Given the description of an element on the screen output the (x, y) to click on. 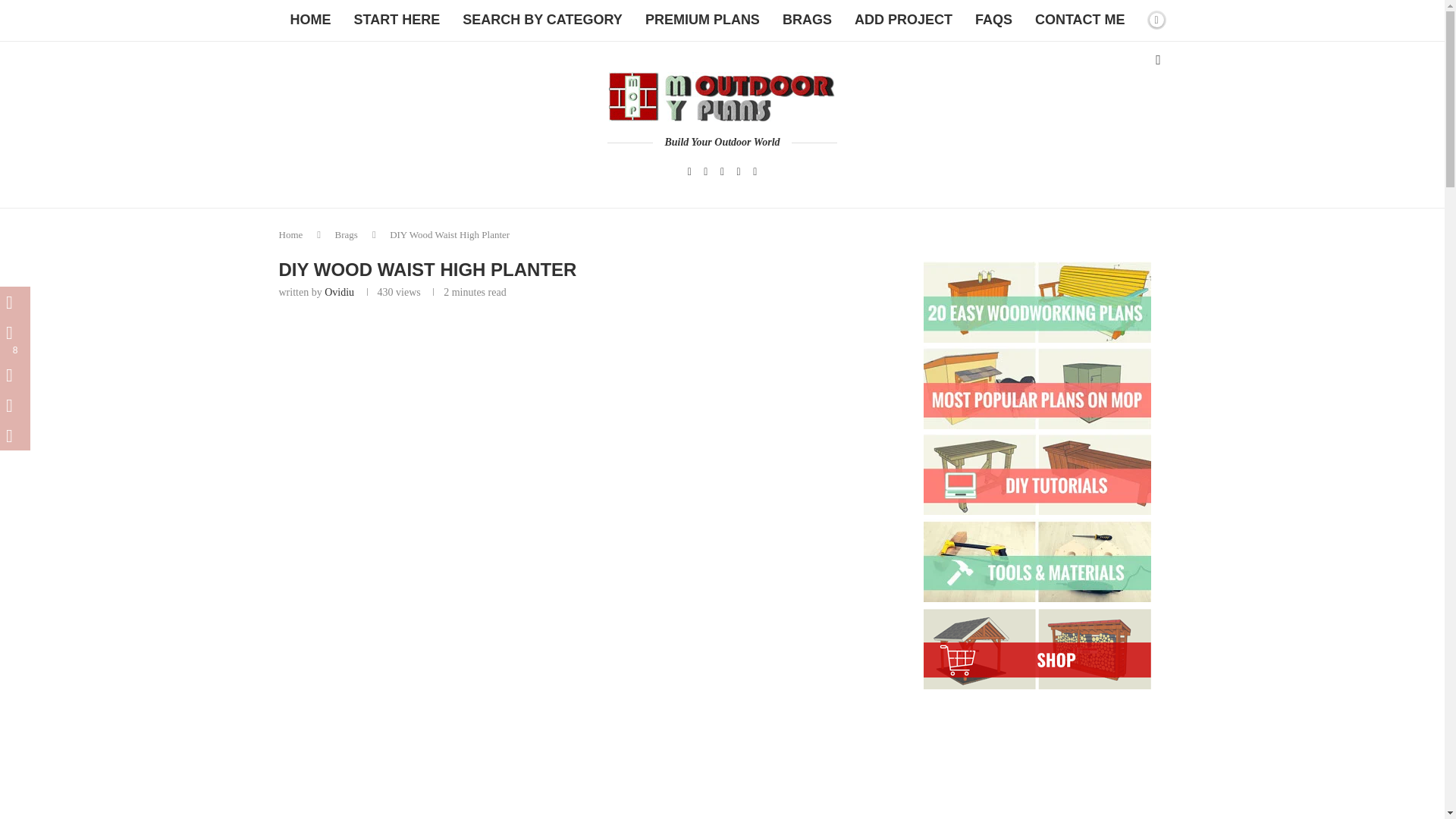
Ovidiu (338, 292)
HOME (310, 20)
FAQS (993, 20)
CONTACT ME (1080, 20)
Brags (346, 234)
ADD PROJECT (903, 20)
BRAGS (807, 20)
START HERE (396, 20)
PREMIUM PLANS (702, 20)
SEARCH BY CATEGORY (542, 20)
Advertisement (574, 706)
Home (290, 234)
